Given the description of an element on the screen output the (x, y) to click on. 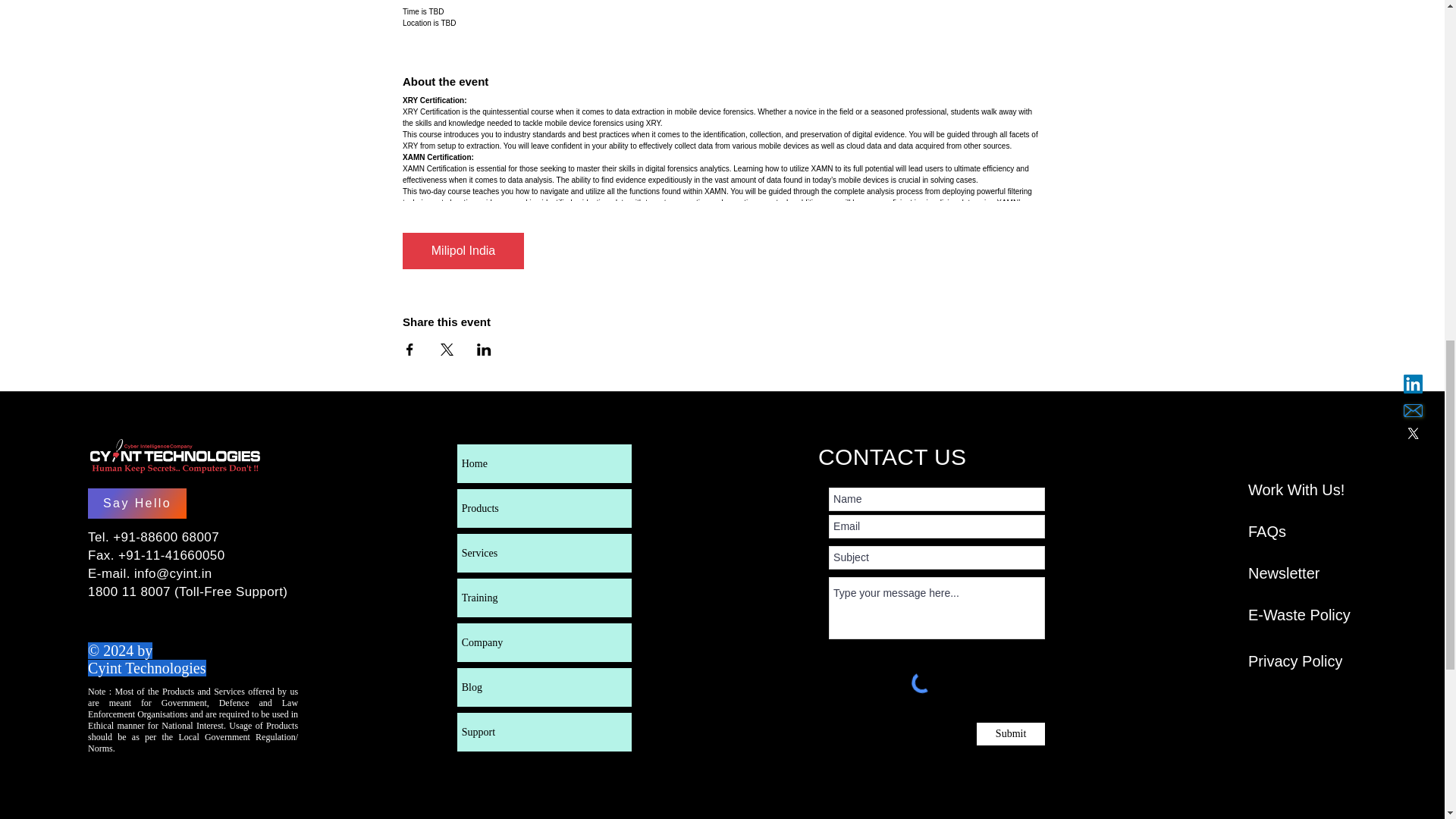
Milipol India (463, 250)
